Given the description of an element on the screen output the (x, y) to click on. 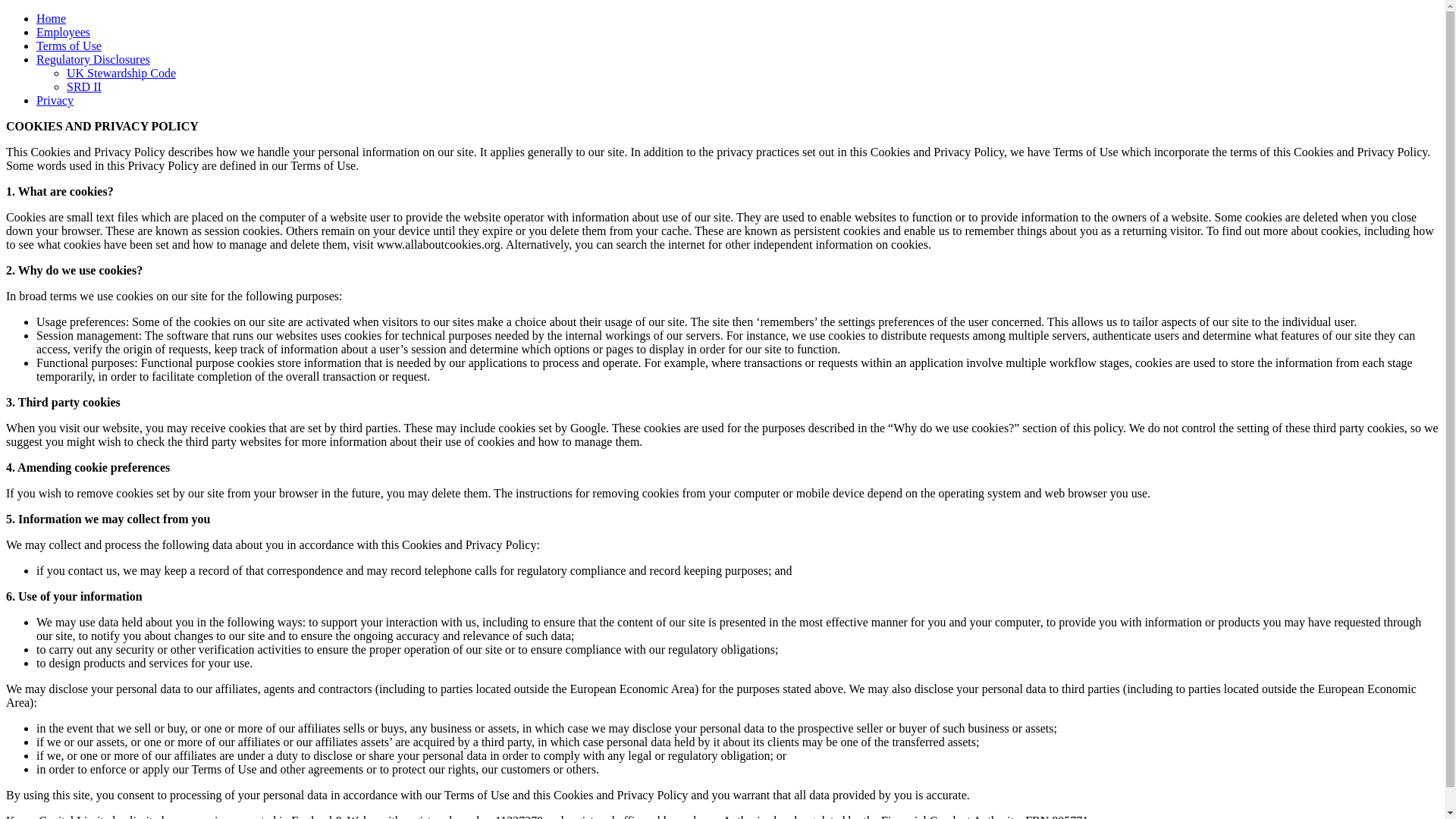
UK Stewardship Code (121, 72)
Regulatory Disclosures (92, 59)
Terms of Use (68, 45)
Employees (63, 31)
Privacy (55, 100)
Home (50, 18)
SRD II (83, 86)
